Given the description of an element on the screen output the (x, y) to click on. 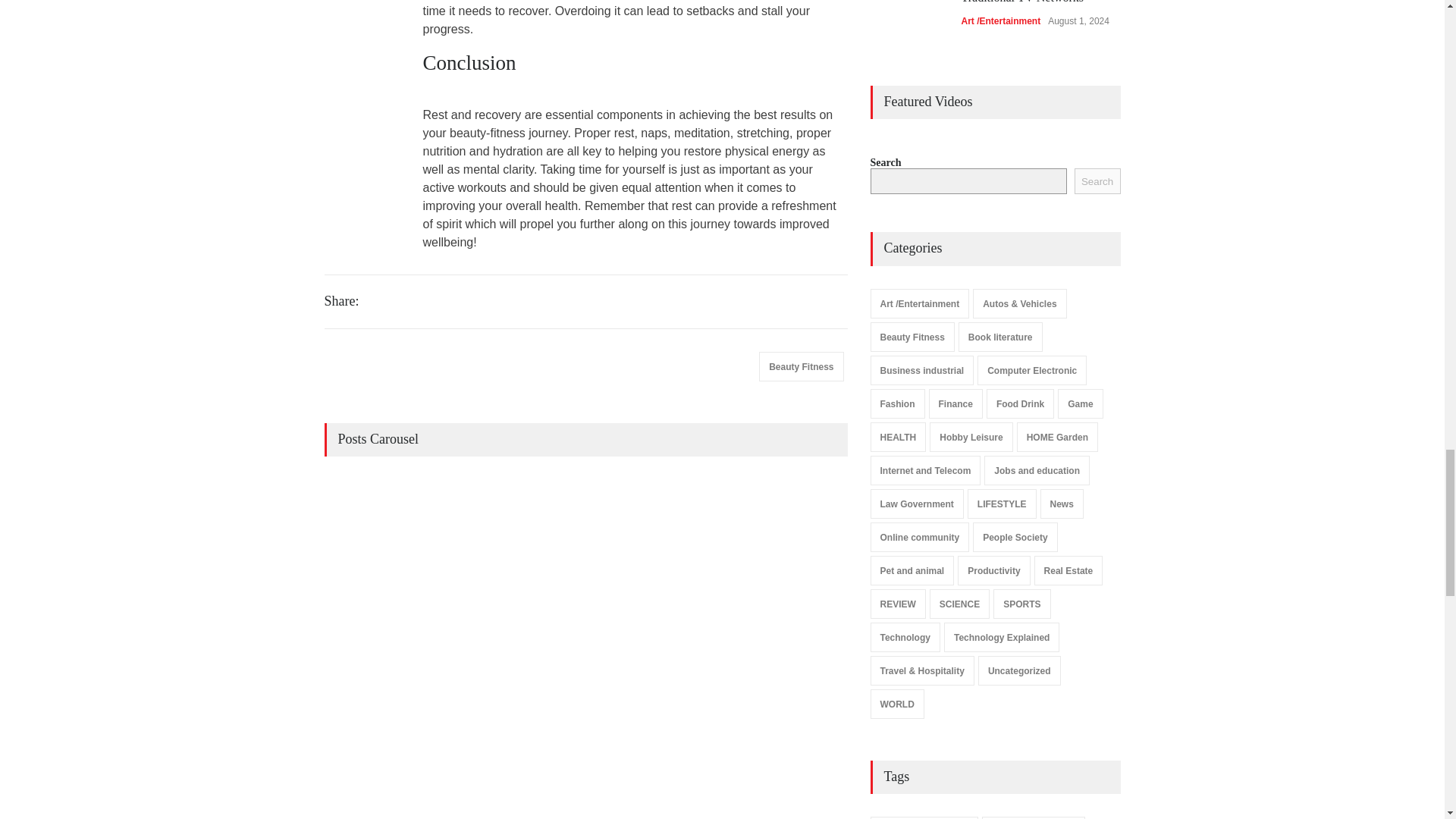
Beauty Fitness (800, 366)
